Given the description of an element on the screen output the (x, y) to click on. 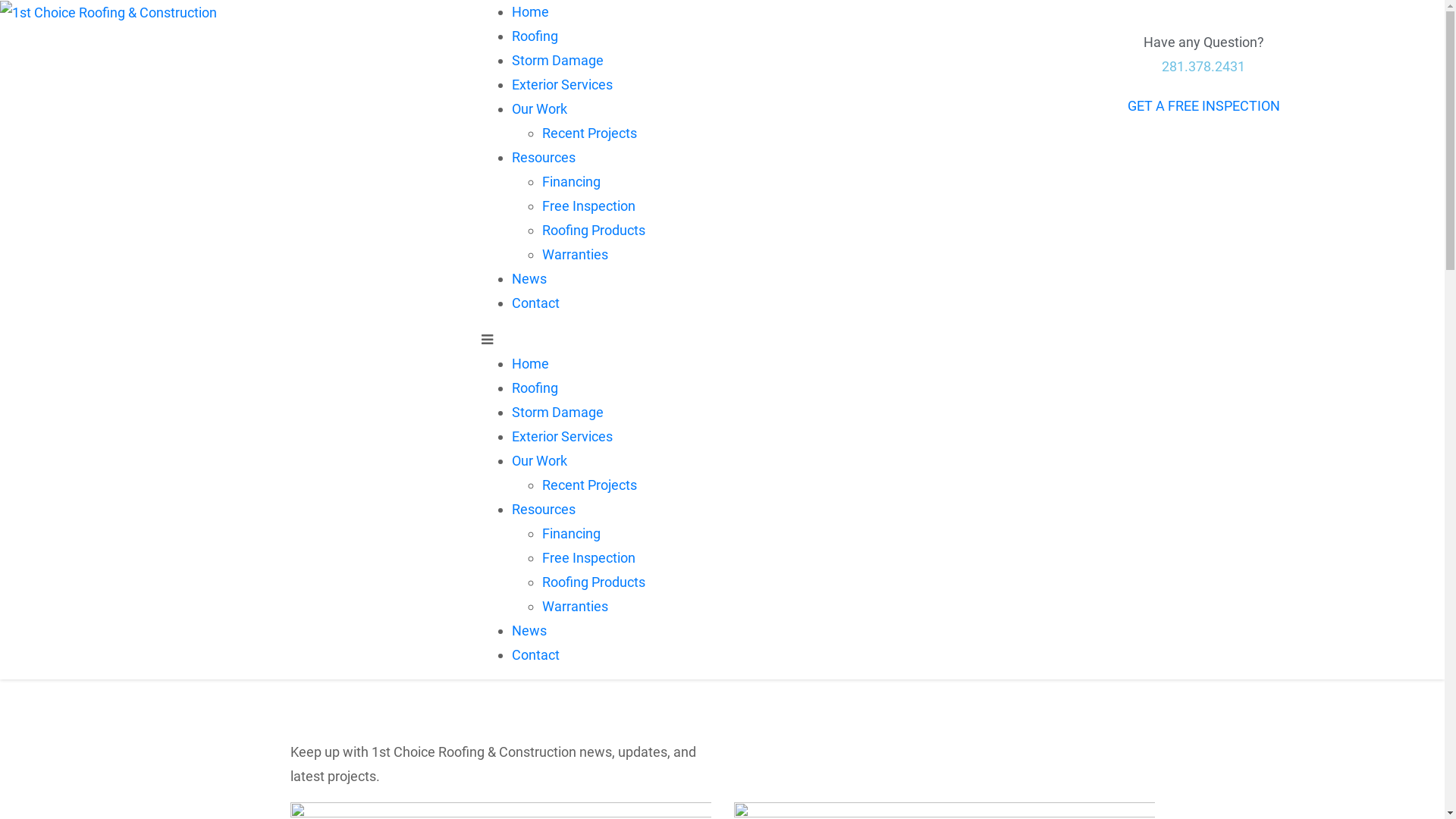
Financing Element type: text (571, 181)
News Element type: text (528, 278)
Contact Element type: text (535, 654)
Recent Projects Element type: text (589, 484)
Free Inspection Element type: text (588, 205)
Home Element type: text (530, 11)
Roofing Products Element type: text (593, 230)
Contact Element type: text (535, 302)
Our Work Element type: text (539, 460)
Roofing Element type: text (534, 387)
Financing Element type: text (571, 533)
Warranties Element type: text (575, 254)
Free Inspection Element type: text (588, 557)
Our Work Element type: text (539, 108)
Resources Element type: text (543, 157)
Roofing Products Element type: text (593, 581)
Recent Projects Element type: text (589, 133)
News Element type: text (528, 630)
Home Element type: text (530, 363)
Exterior Services Element type: text (561, 436)
GET A FREE INSPECTION Element type: text (1203, 106)
Resources Element type: text (543, 509)
Storm Damage Element type: text (557, 412)
Warranties Element type: text (575, 606)
Storm Damage Element type: text (557, 60)
Roofing Element type: text (534, 35)
Exterior Services Element type: text (561, 84)
